Given the description of an element on the screen output the (x, y) to click on. 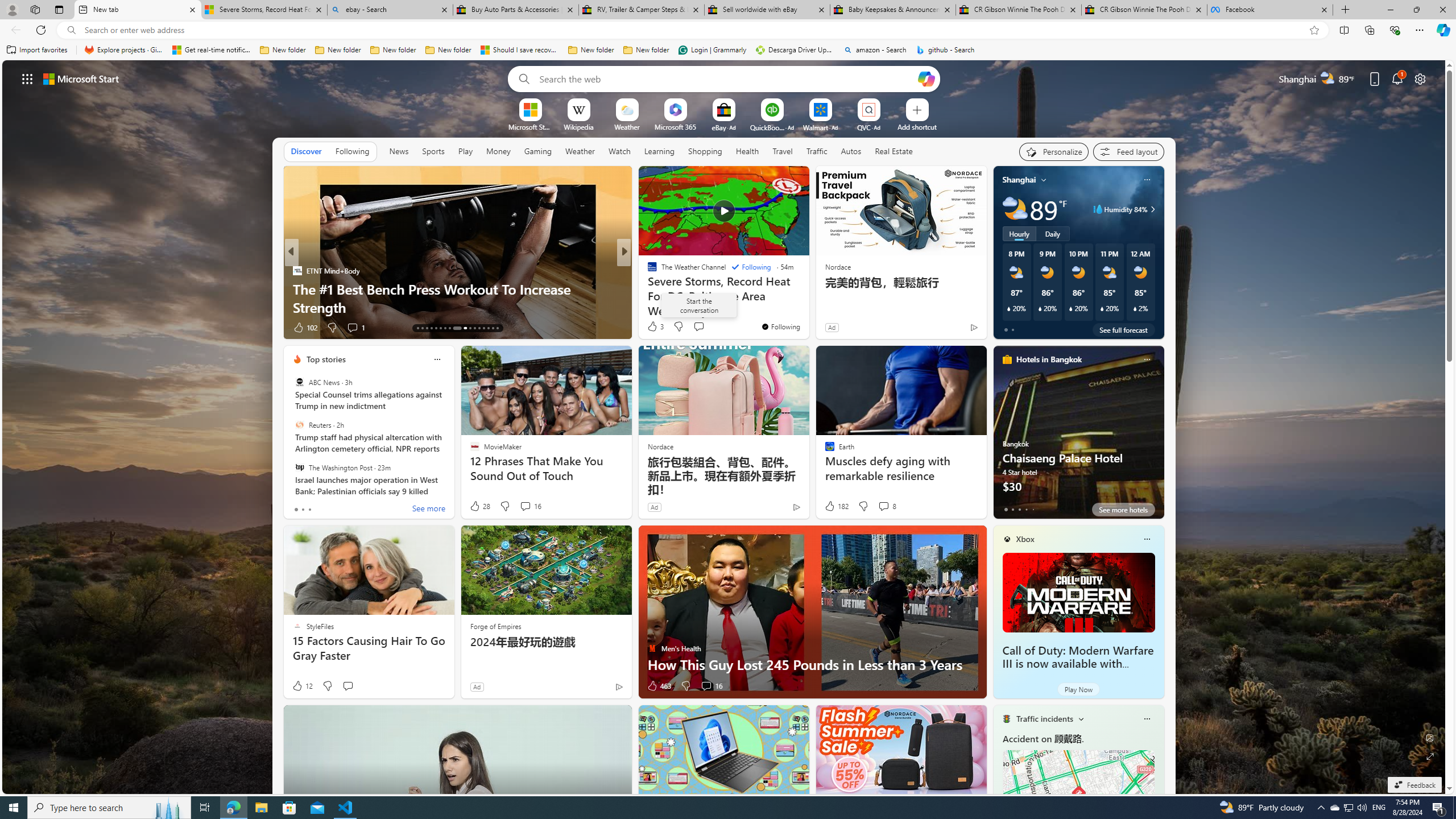
Daily (1052, 233)
